Given the description of an element on the screen output the (x, y) to click on. 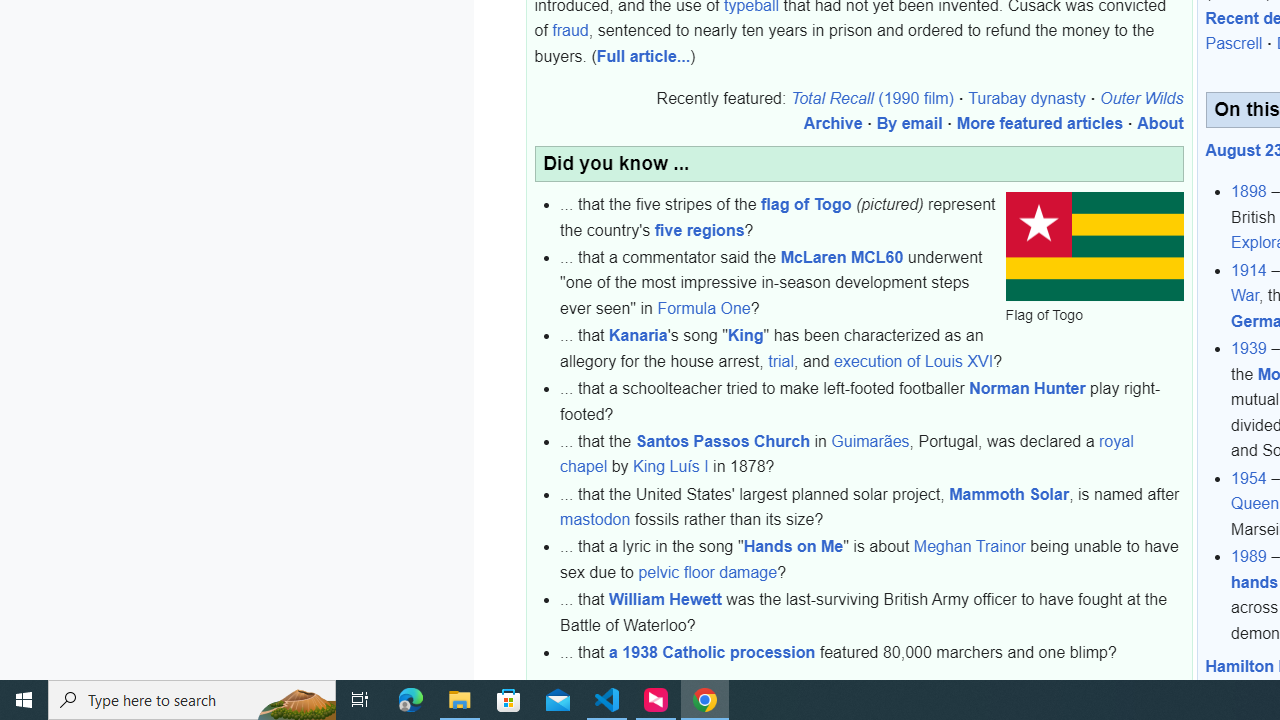
mastodon (595, 520)
Total Recall (1990 film) (871, 98)
Start a new article (952, 685)
Outer Wilds (1141, 98)
1939 (1249, 348)
Nominate an article (1109, 685)
flag of Togo (806, 204)
Norman Hunter (1026, 389)
Kanaria (638, 335)
1989 (1249, 556)
1954 (1249, 477)
a 1938 Catholic procession (712, 651)
royal chapel (847, 453)
McLaren MCL60 (841, 256)
